Given the description of an element on the screen output the (x, y) to click on. 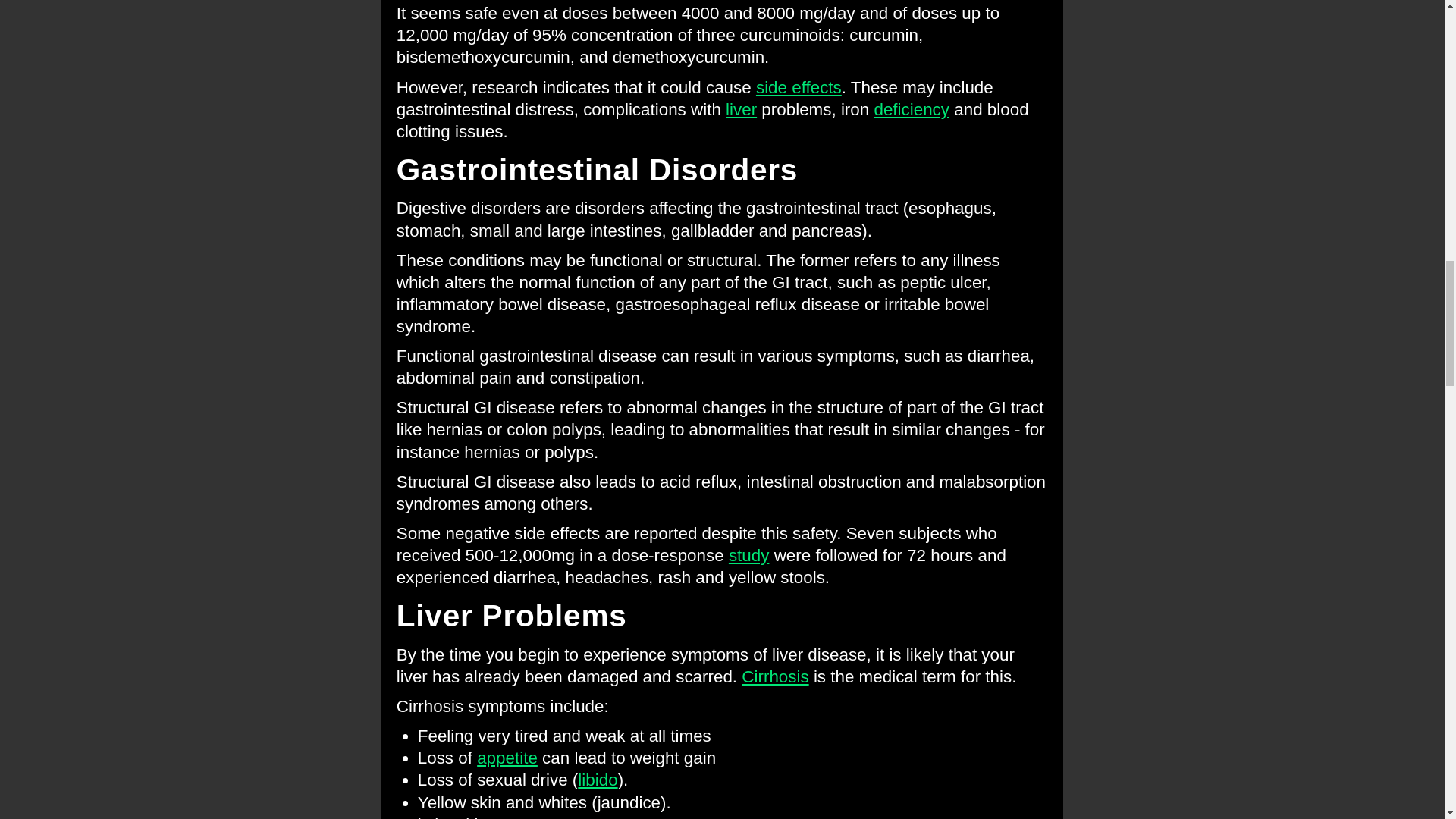
side effects (798, 86)
Cirrhosis (774, 676)
deficiency (911, 108)
liver (741, 108)
Dose escalation of a curcuminoid formulation (749, 555)
